Given the description of an element on the screen output the (x, y) to click on. 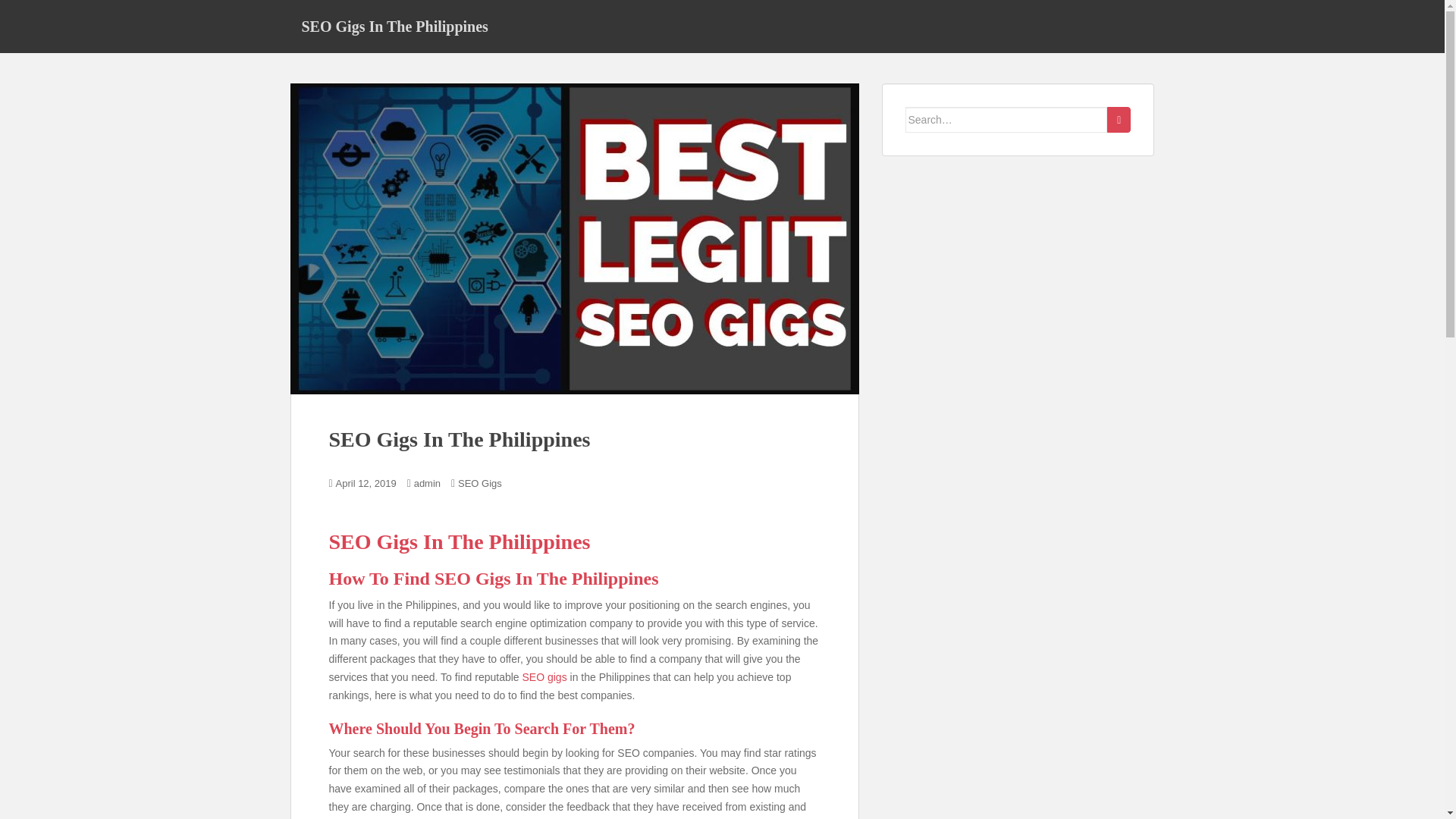
SEO Gigs In The Philippines (394, 26)
April 12, 2019 (366, 482)
SEO Gigs In The Philippines (394, 26)
admin (427, 482)
SEO gigs (544, 676)
SEO Gigs (480, 482)
Search for: (1006, 119)
Search (1118, 119)
